Given the description of an element on the screen output the (x, y) to click on. 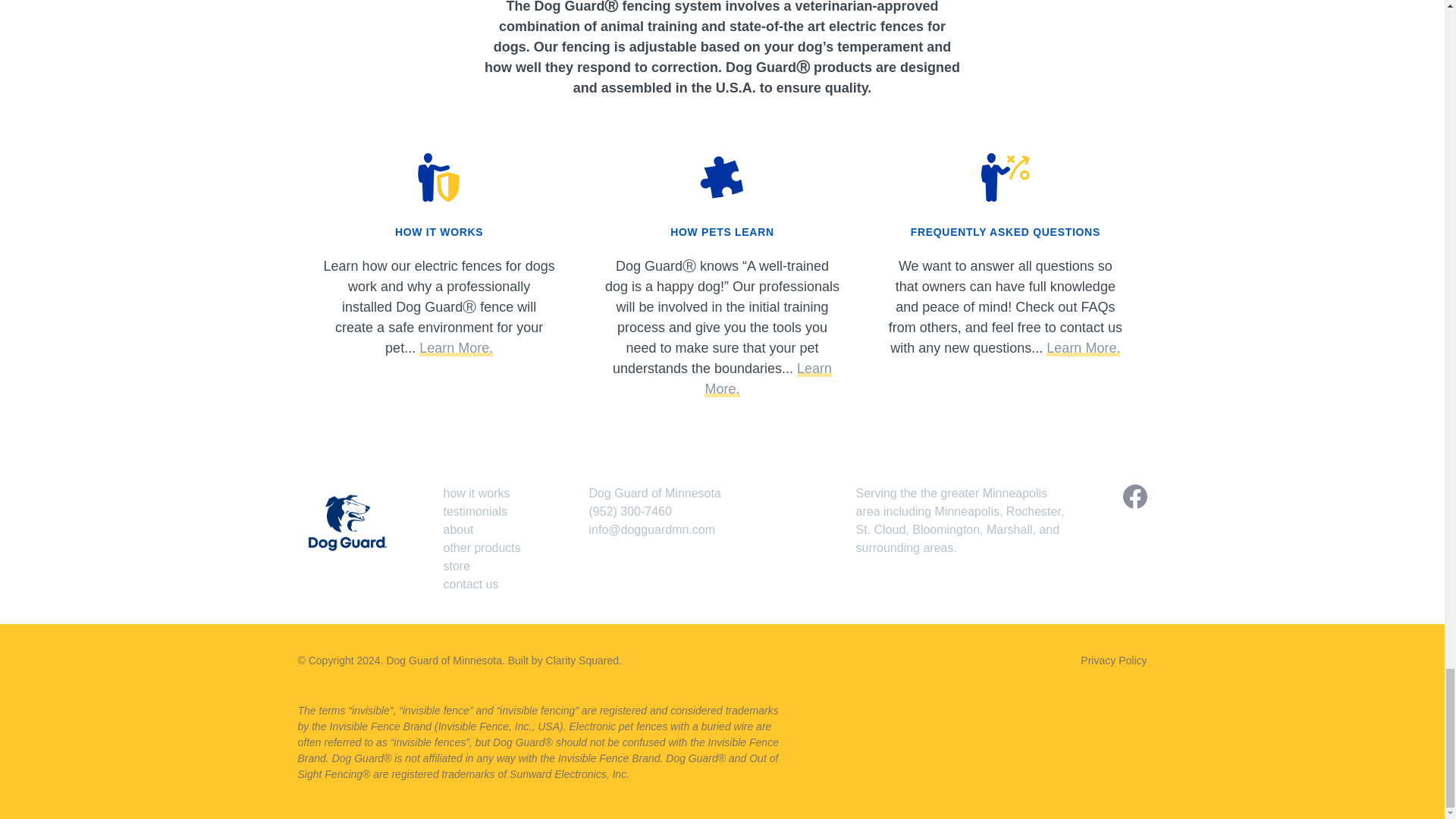
Learn More. (456, 348)
